Given the description of an element on the screen output the (x, y) to click on. 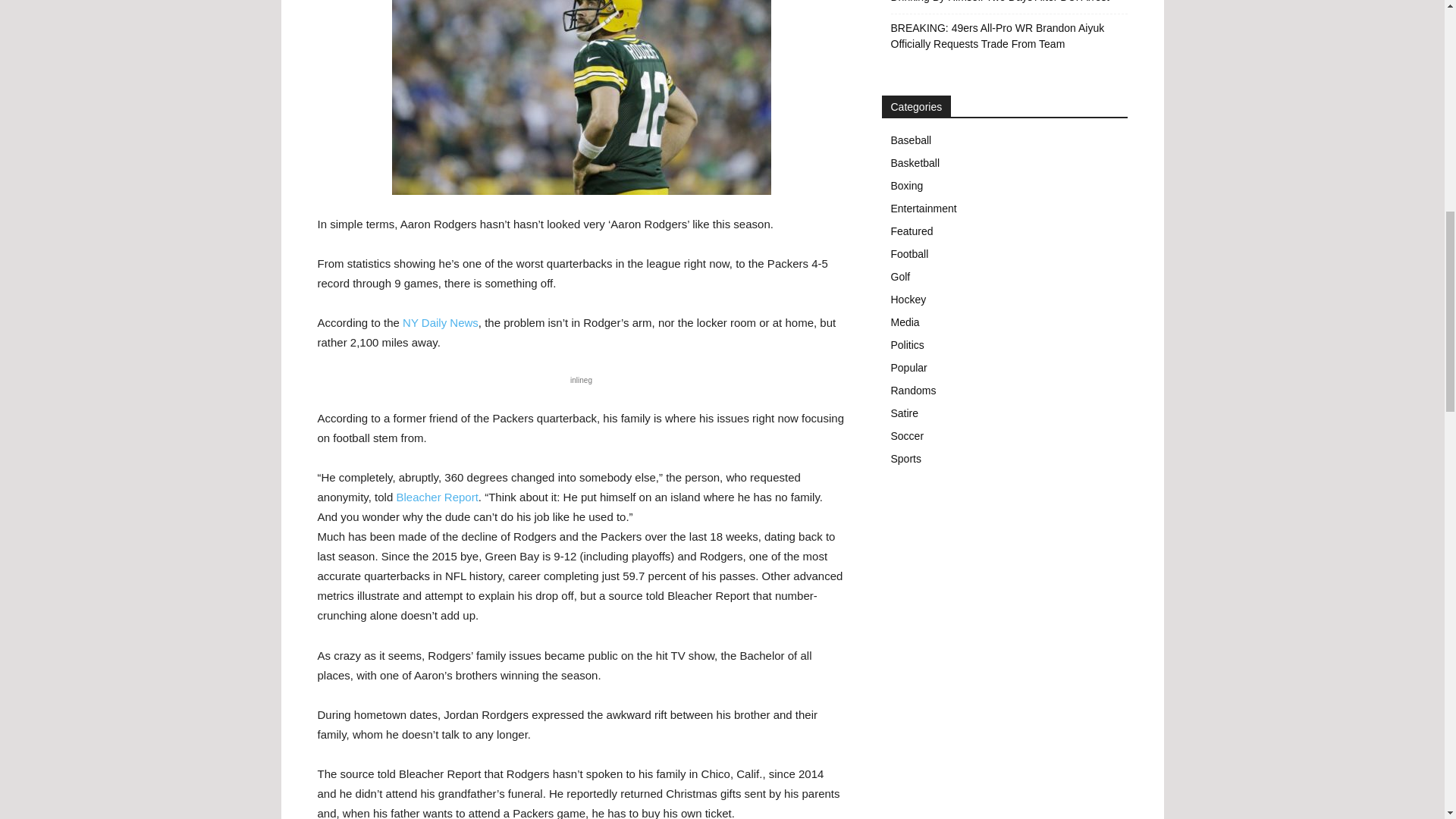
Bleacher Report (436, 496)
NY Daily News (441, 322)
